Given the description of an element on the screen output the (x, y) to click on. 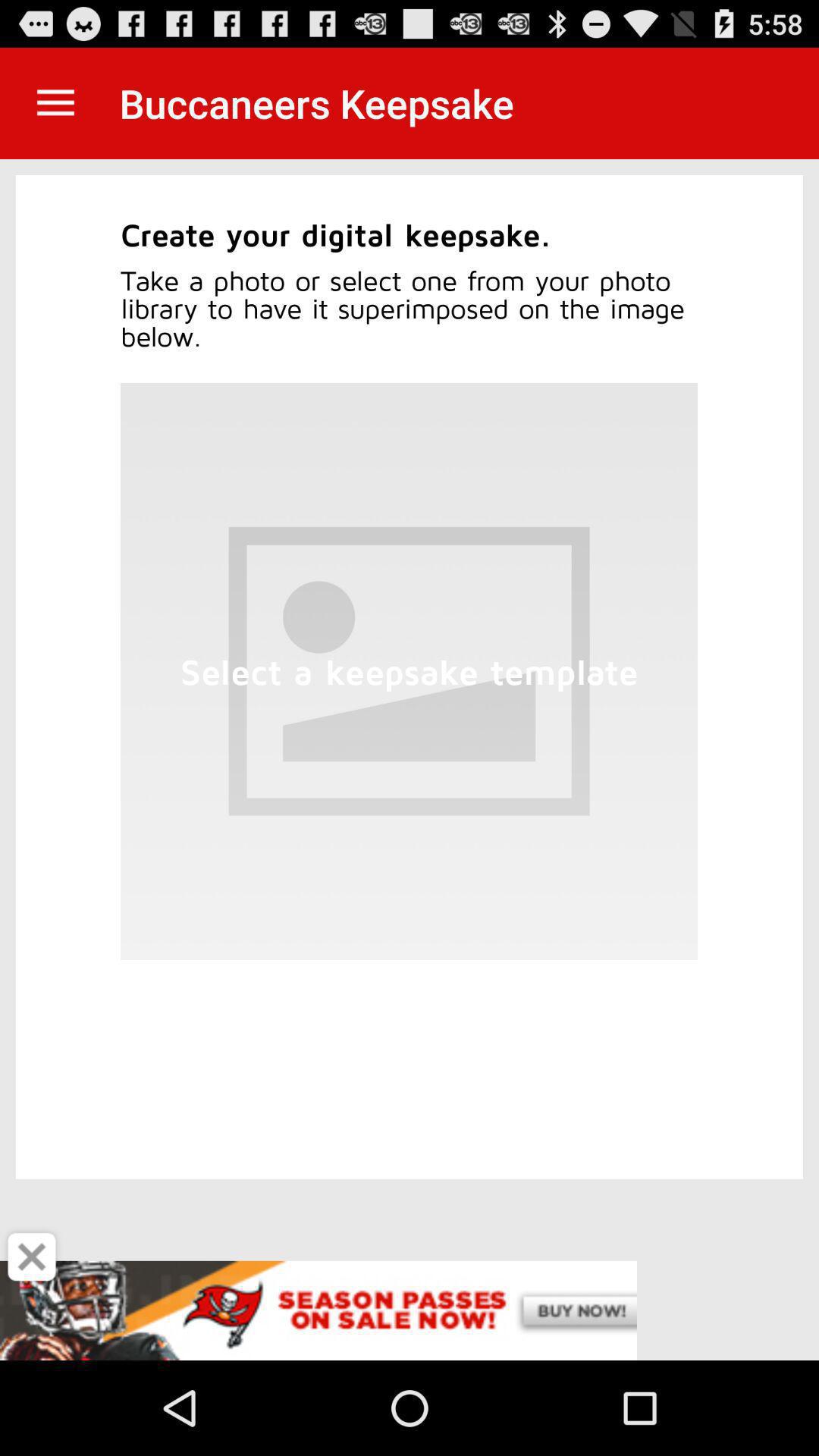
close advertisement (31, 1256)
